Given the description of an element on the screen output the (x, y) to click on. 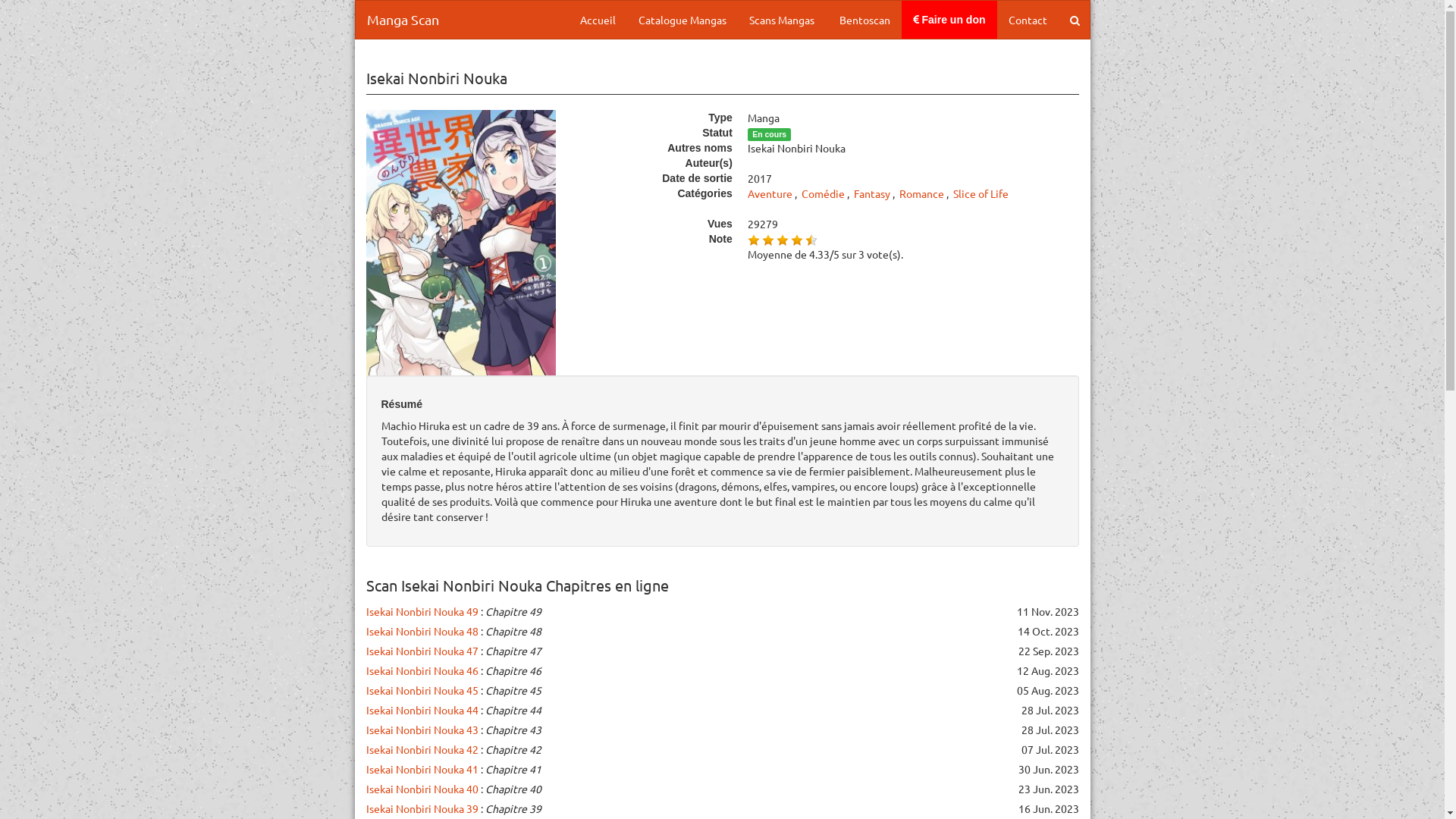
Isekai Nonbiri Nouka 47 Element type: text (421, 650)
Romance Element type: text (921, 193)
Isekai Nonbiri Nouka 45 Element type: text (421, 689)
bad Element type: hover (753, 240)
Isekai Nonbiri Nouka 48 Element type: text (421, 630)
Fantasy Element type: text (871, 193)
poor Element type: hover (768, 240)
Accueil Element type: text (597, 19)
Isekai Nonbiri Nouka 49 Element type: text (421, 611)
Scans Mangas Element type: text (781, 19)
Contact Element type: text (1026, 19)
Slice of Life Element type: text (980, 193)
Aventure Element type: text (769, 193)
Isekai Nonbiri Nouka 42 Element type: text (421, 749)
Faire un don Element type: text (949, 19)
Isekai Nonbiri Nouka 39 Element type: text (421, 808)
Isekai Nonbiri Nouka 40 Element type: text (421, 788)
gorgeous Element type: hover (811, 240)
regular Element type: hover (782, 240)
Isekai Nonbiri Nouka 43 Element type: text (421, 729)
Isekai Nonbiri Nouka 44 Element type: text (421, 709)
Bentoscan Element type: text (863, 19)
Isekai Nonbiri Nouka 46 Element type: text (421, 670)
Manga Scan Element type: text (401, 19)
Catalogue Mangas Element type: text (682, 19)
good Element type: hover (796, 240)
Isekai Nonbiri Nouka 41 Element type: text (421, 768)
